Given the description of an element on the screen output the (x, y) to click on. 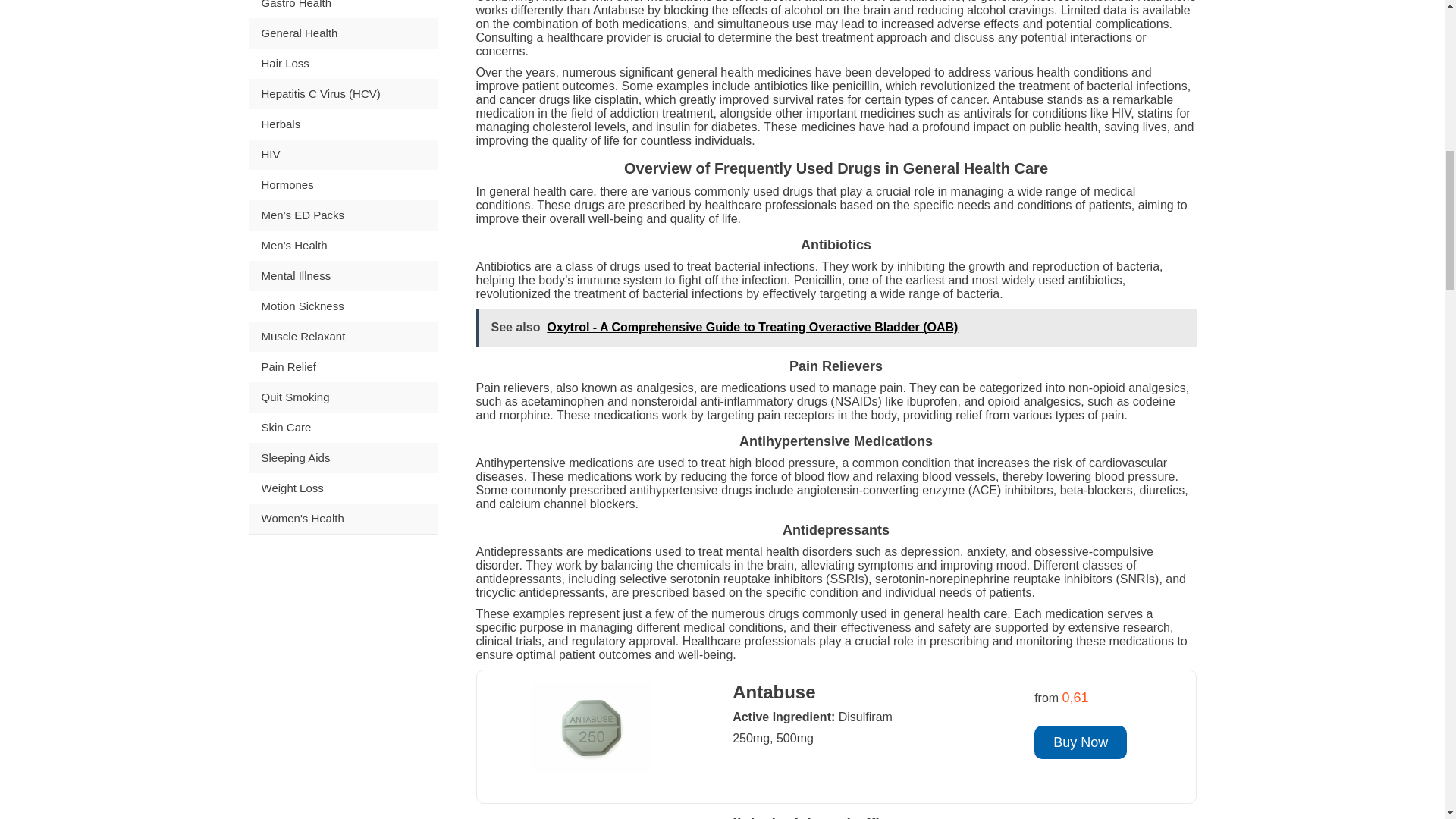
Buy Now (1079, 741)
